Given the description of an element on the screen output the (x, y) to click on. 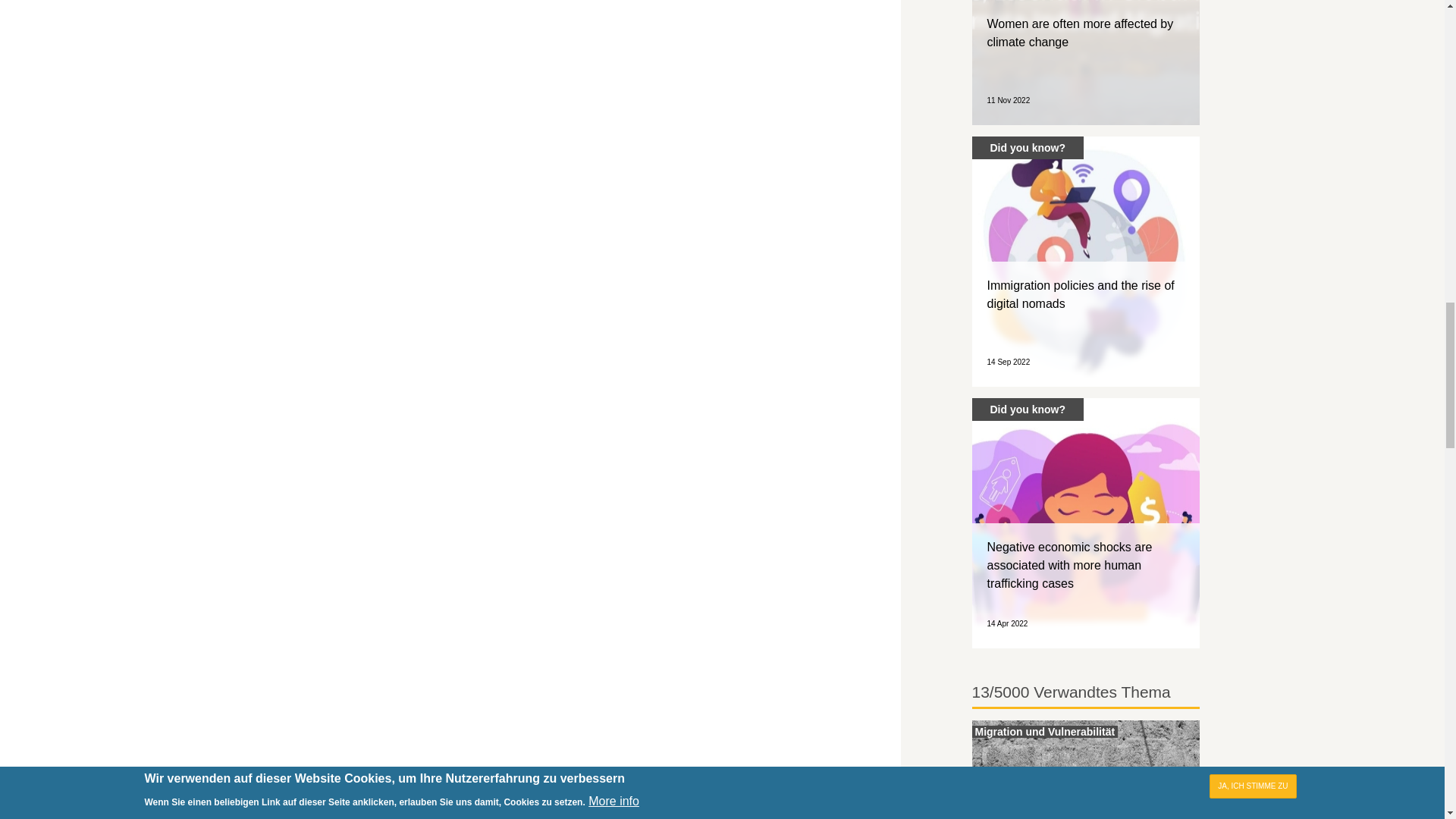
blog-image-thumbnail (1085, 261)
blog-dyk-md (1085, 62)
